Given the description of an element on the screen output the (x, y) to click on. 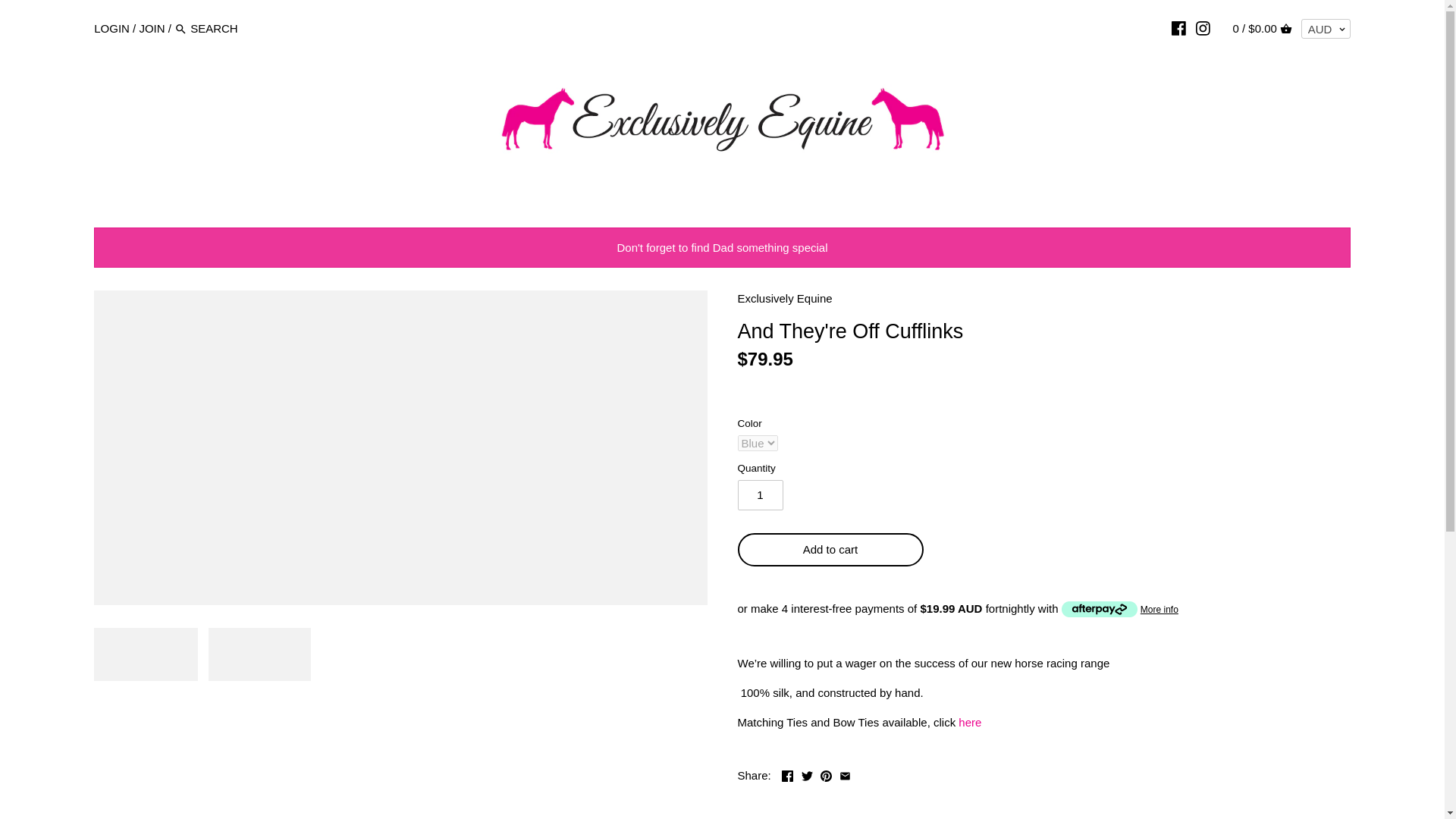
Email (845, 776)
CART (1285, 28)
INSTAGRAM (1202, 28)
Twitter (807, 776)
LOGIN (111, 27)
1 (759, 494)
Pinterest (826, 776)
Facebook (787, 776)
FACEBOOK (1178, 28)
JOIN (151, 27)
